Given the description of an element on the screen output the (x, y) to click on. 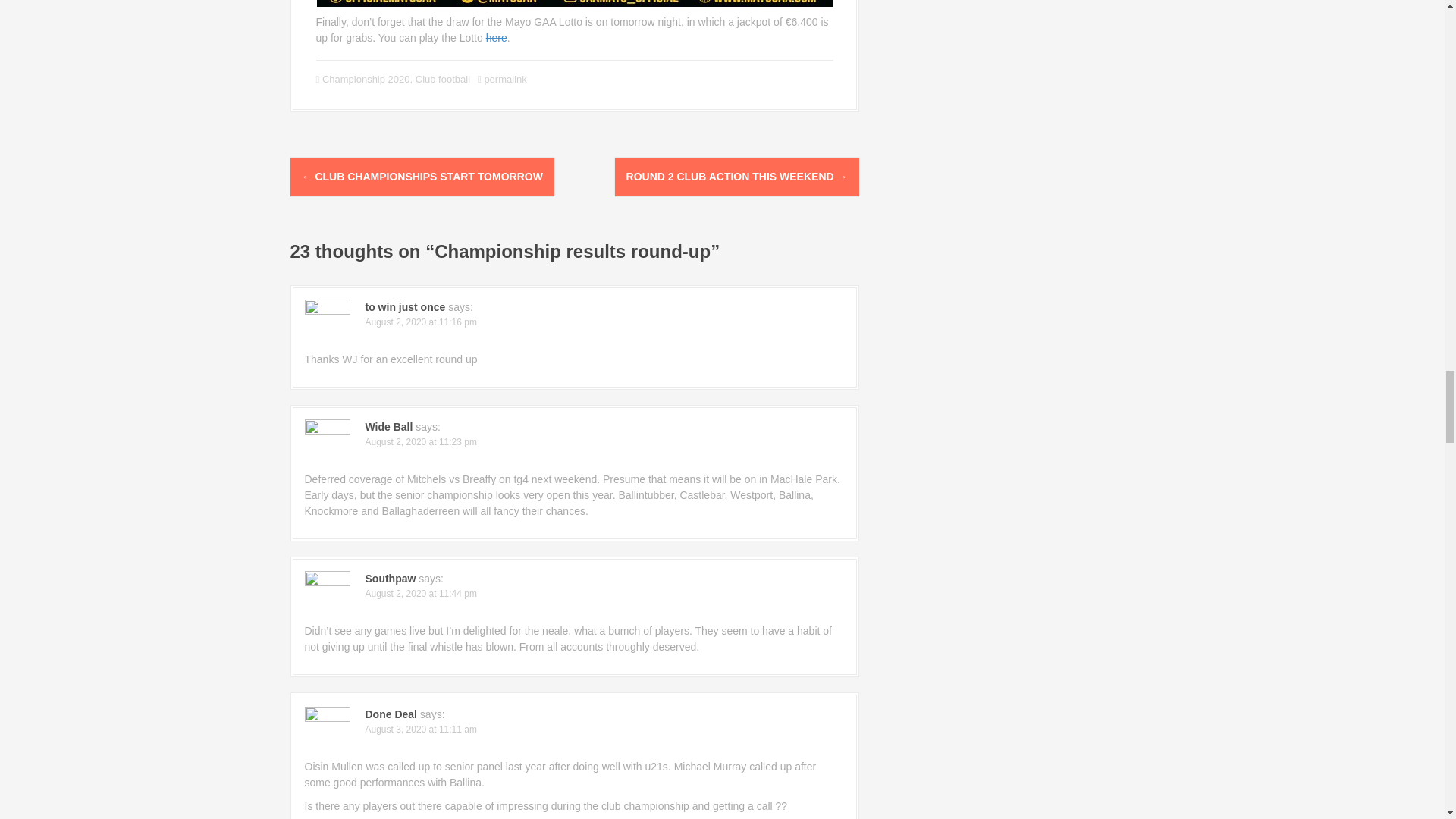
August 2, 2020 at 11:16 pm (421, 321)
August 2, 2020 at 11:23 pm (421, 441)
August 2, 2020 at 11:44 pm (421, 593)
Championship 2020 (365, 79)
Club football (442, 79)
permalink (504, 79)
August 3, 2020 at 11:11 am (421, 728)
here (496, 37)
